Given the description of an element on the screen output the (x, y) to click on. 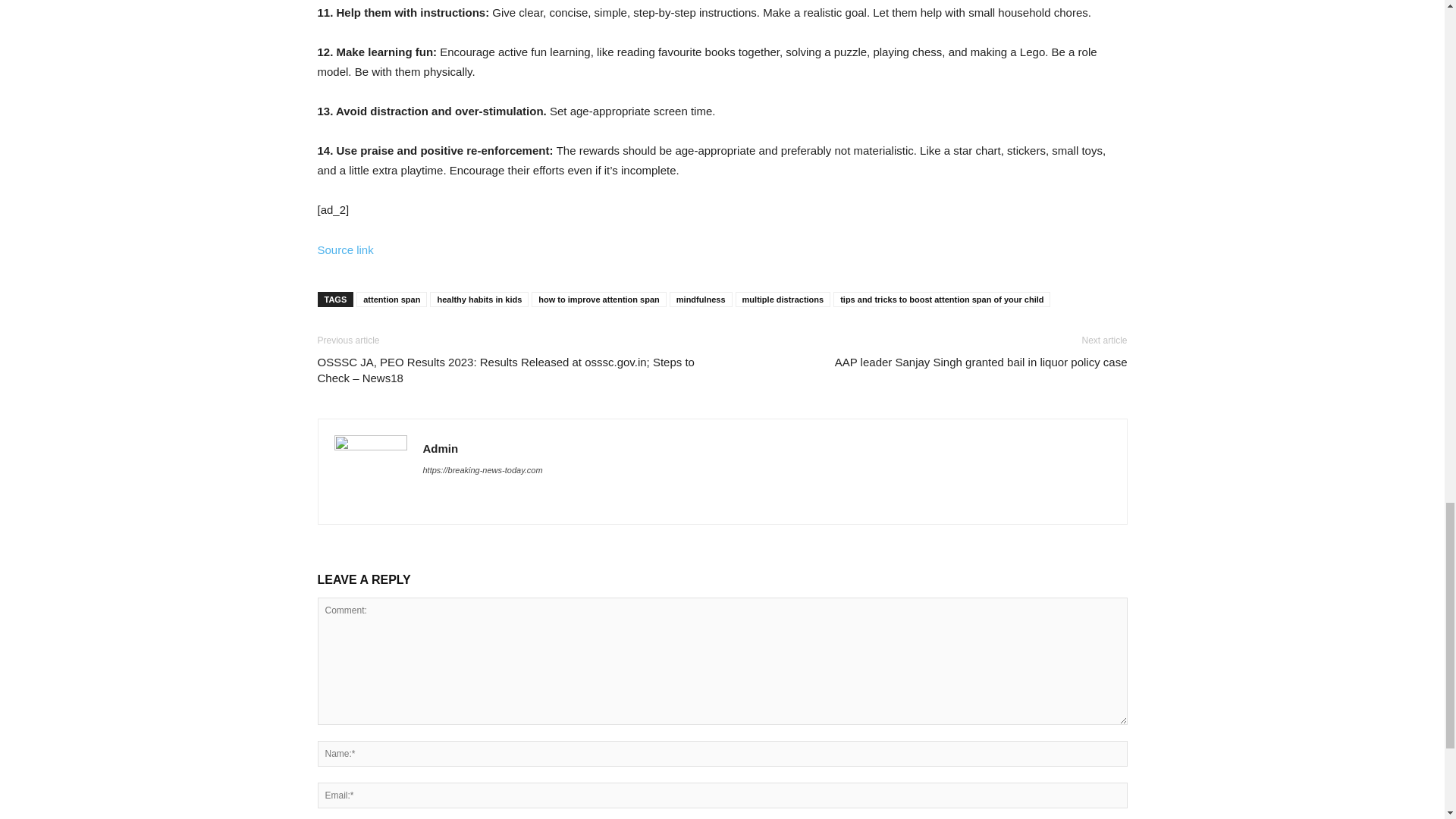
AAP leader Sanjay Singh granted bail in liquor policy case (980, 361)
attention span (391, 299)
Source link (344, 249)
how to improve attention span (598, 299)
tips and tricks to boost attention span of your child (940, 299)
Admin (440, 448)
multiple distractions (783, 299)
healthy habits in kids (478, 299)
mindfulness (700, 299)
